Given the description of an element on the screen output the (x, y) to click on. 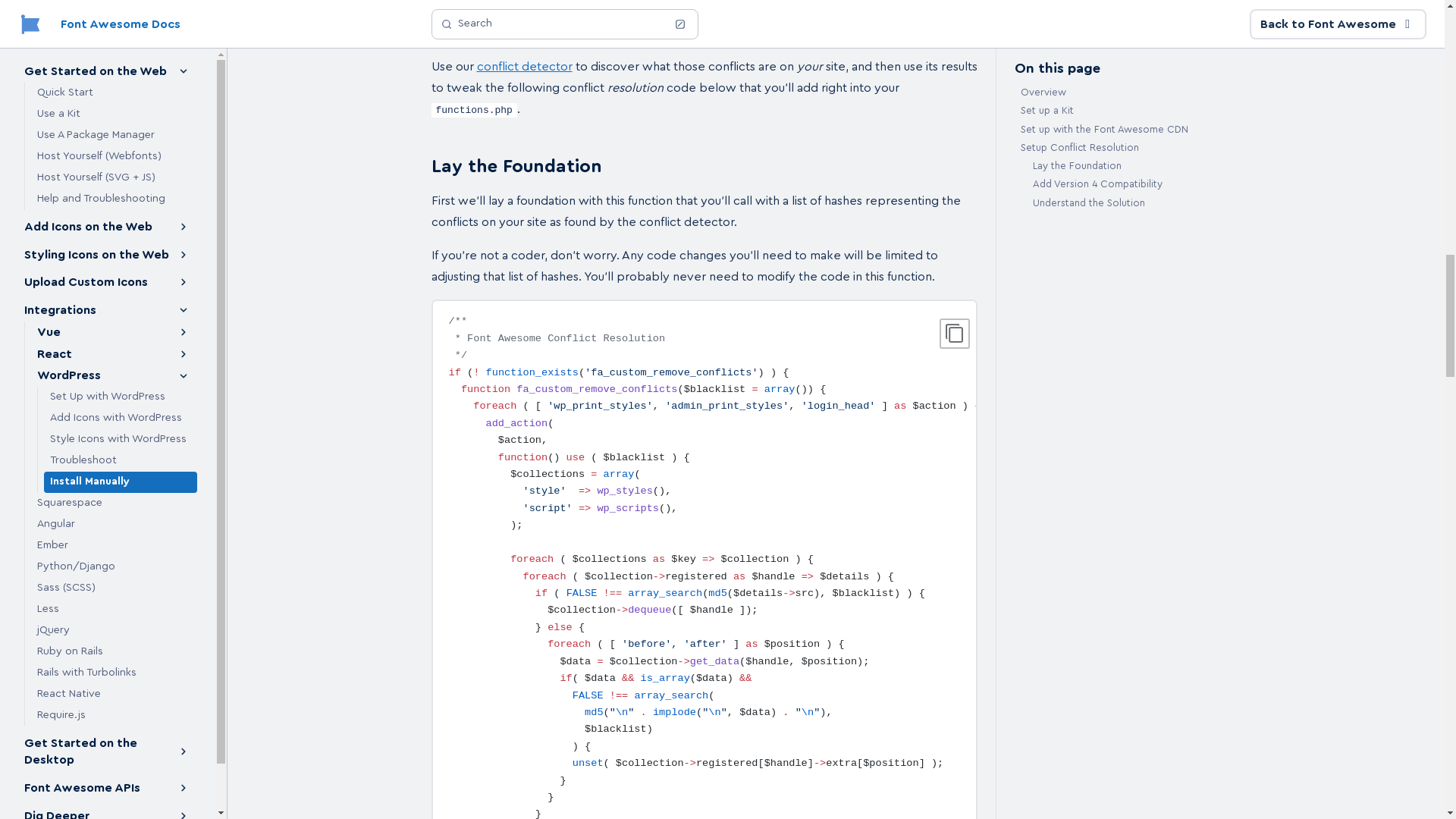
Copy to clipboard (954, 333)
